Given the description of an element on the screen output the (x, y) to click on. 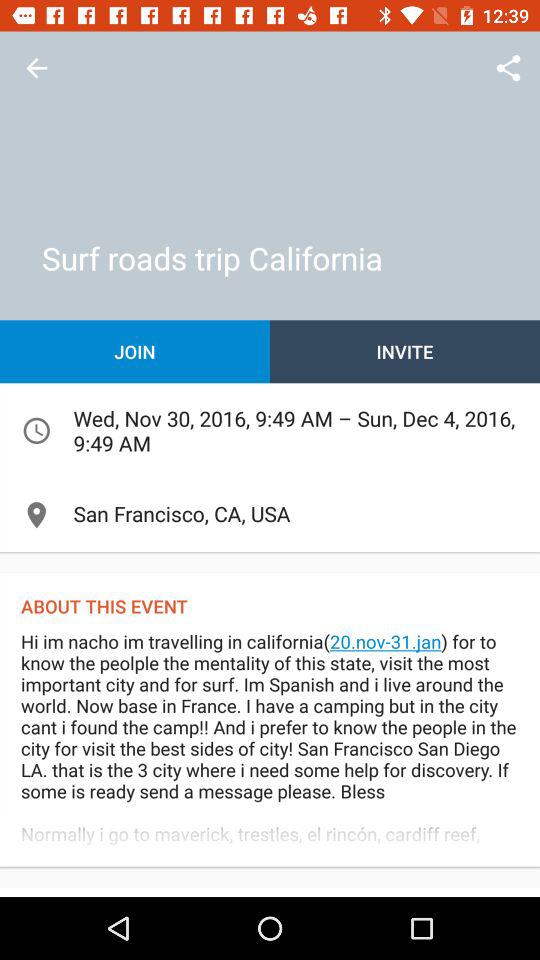
swipe until the invite item (405, 351)
